Given the description of an element on the screen output the (x, y) to click on. 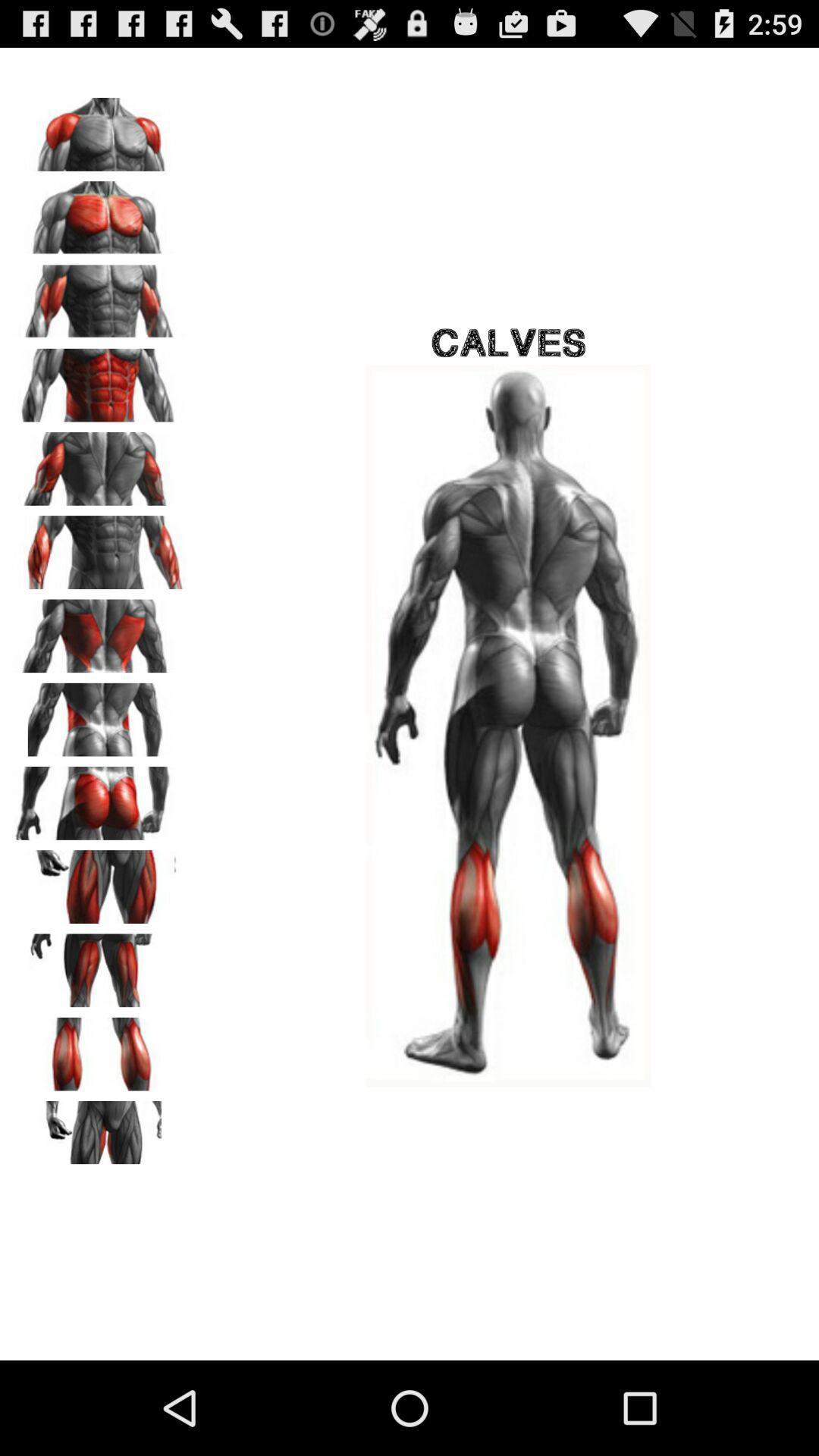
select calves (99, 1048)
